Given the description of an element on the screen output the (x, y) to click on. 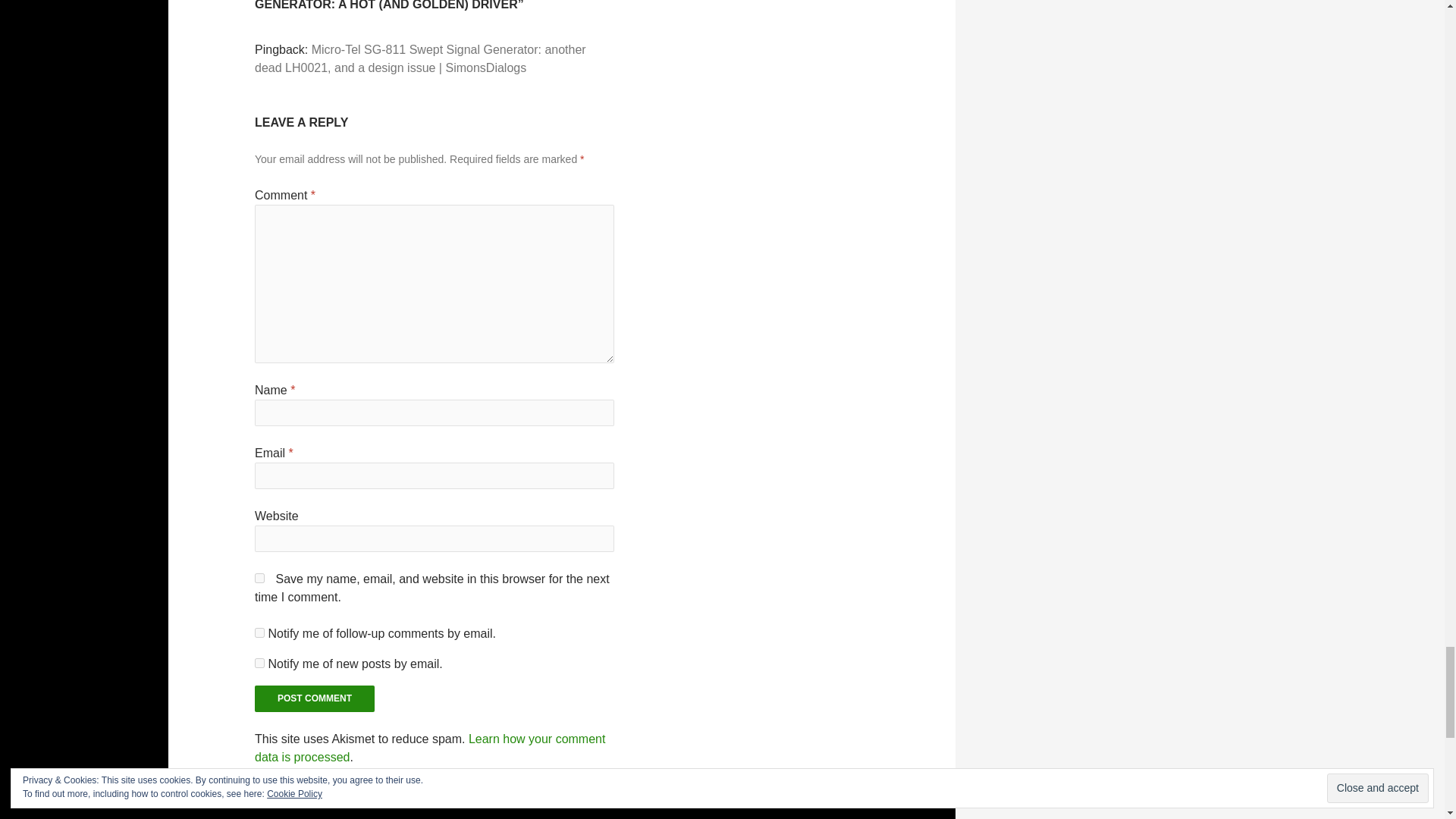
Post Comment (314, 698)
yes (259, 578)
subscribe (259, 633)
subscribe (259, 663)
